Given the description of an element on the screen output the (x, y) to click on. 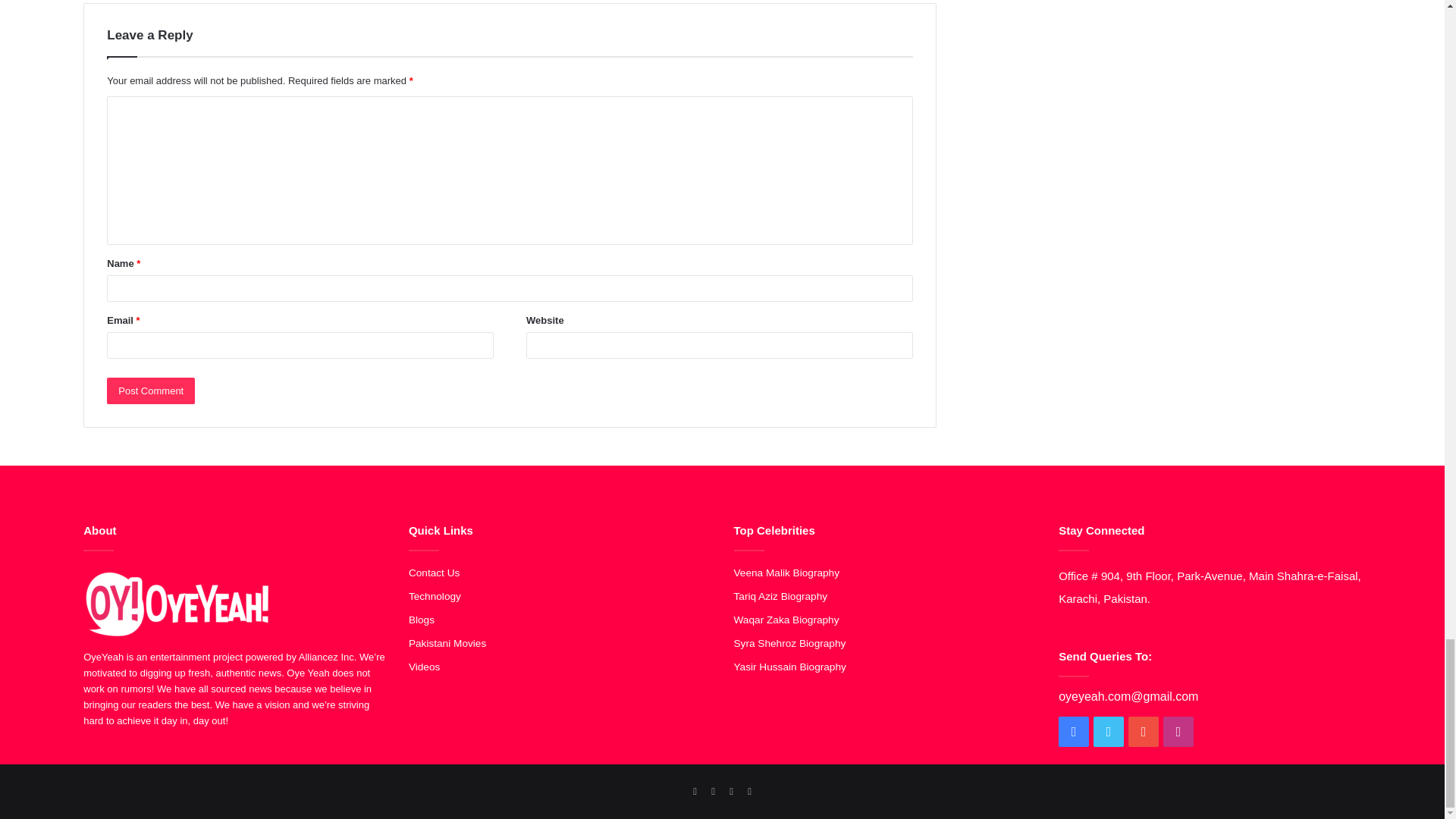
Post Comment (150, 390)
